Given the description of an element on the screen output the (x, y) to click on. 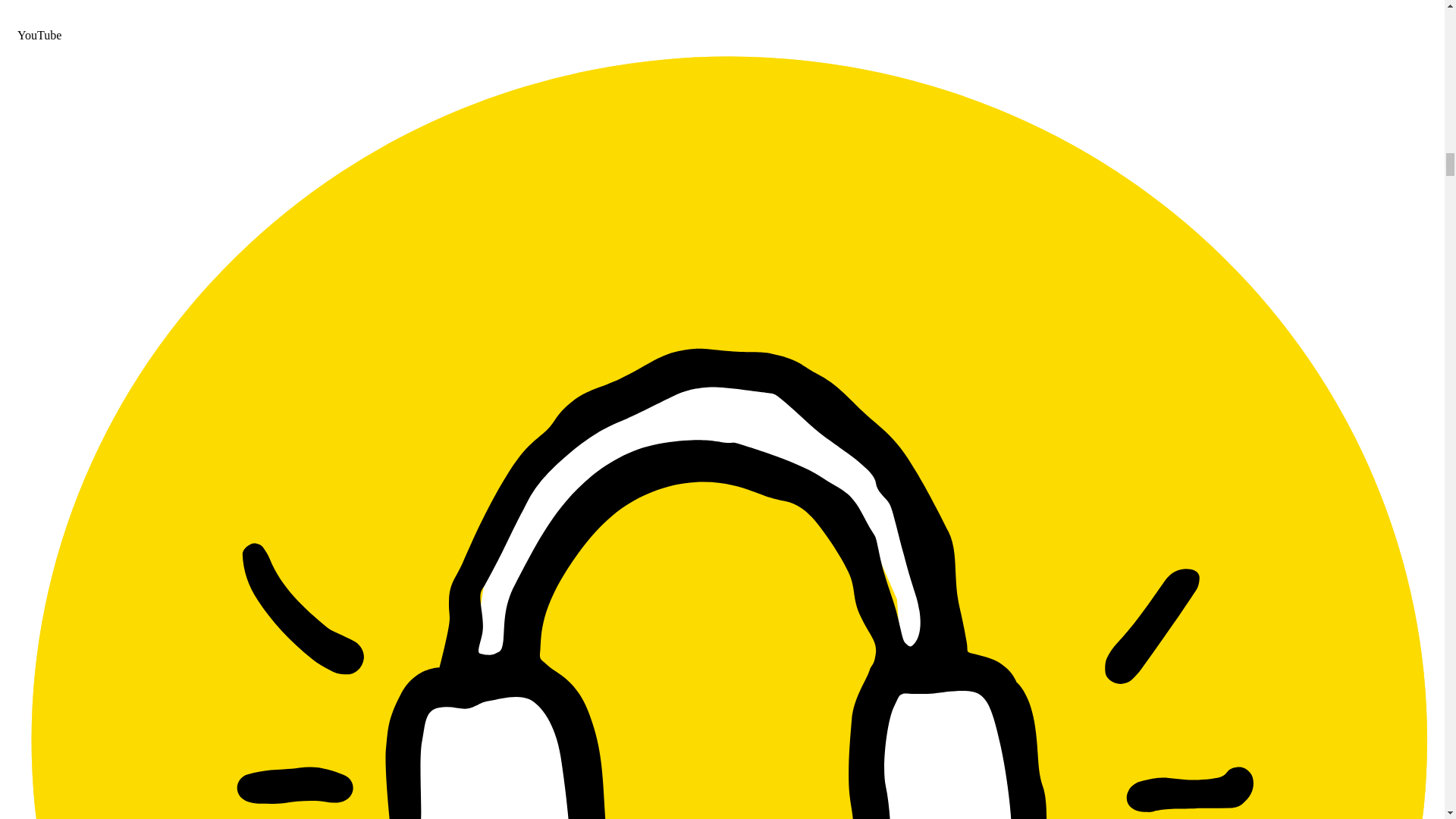
YouTube (721, 28)
